Given the description of an element on the screen output the (x, y) to click on. 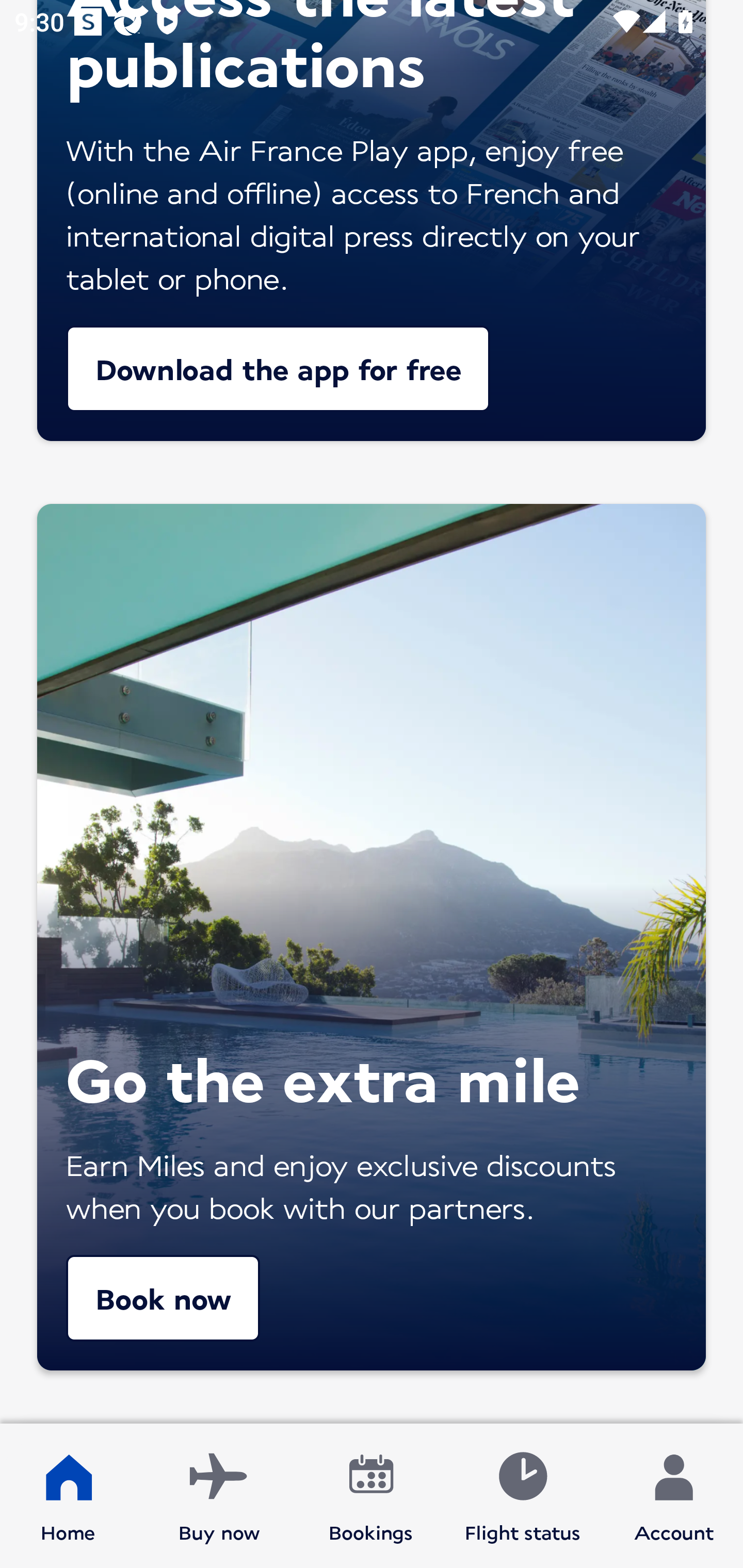
Buy now (219, 1495)
Bookings (370, 1495)
Flight status (522, 1495)
Account (674, 1495)
